Given the description of an element on the screen output the (x, y) to click on. 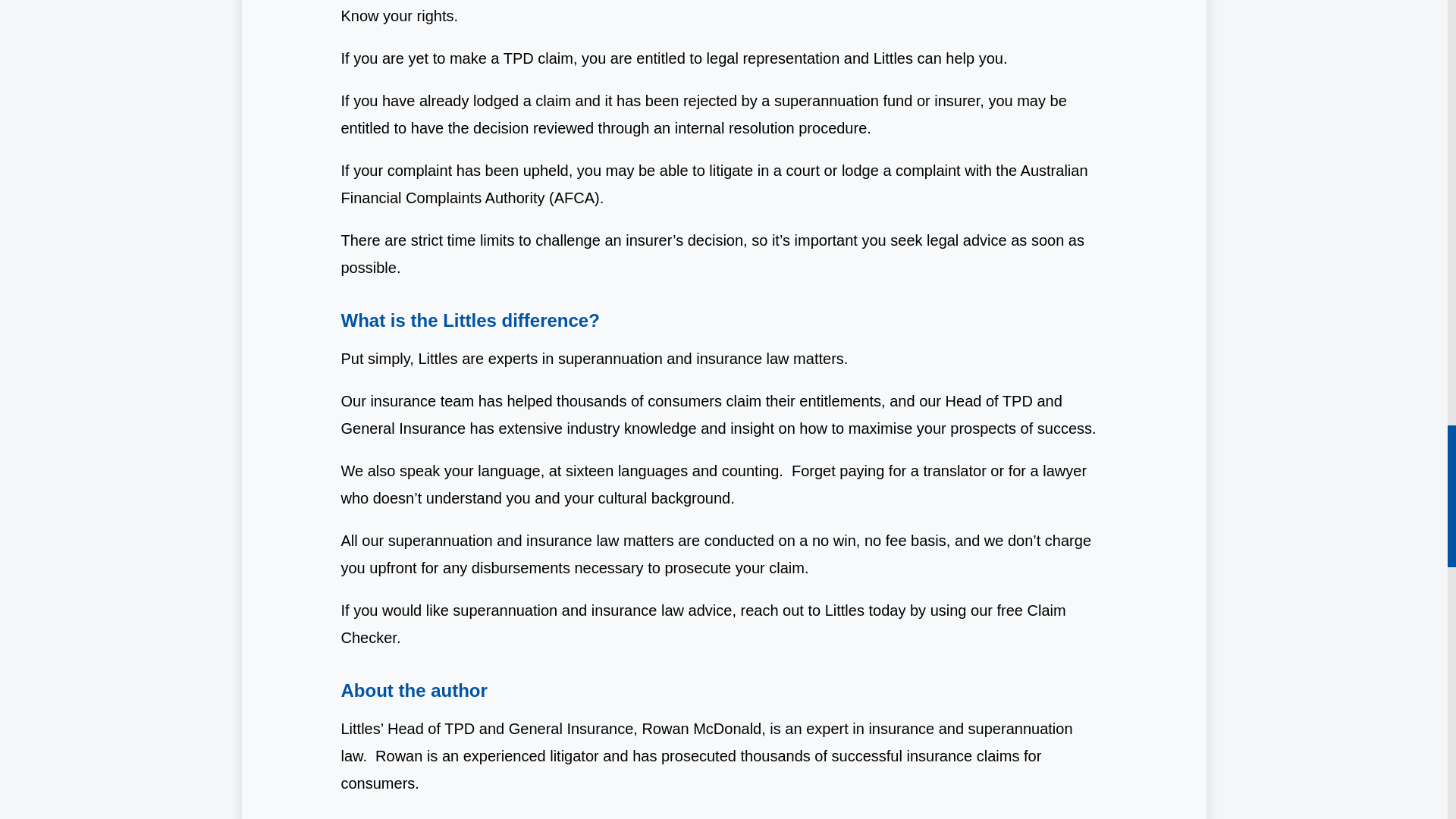
at sixteen languages and counting (663, 470)
Littles can help you (938, 57)
